Given the description of an element on the screen output the (x, y) to click on. 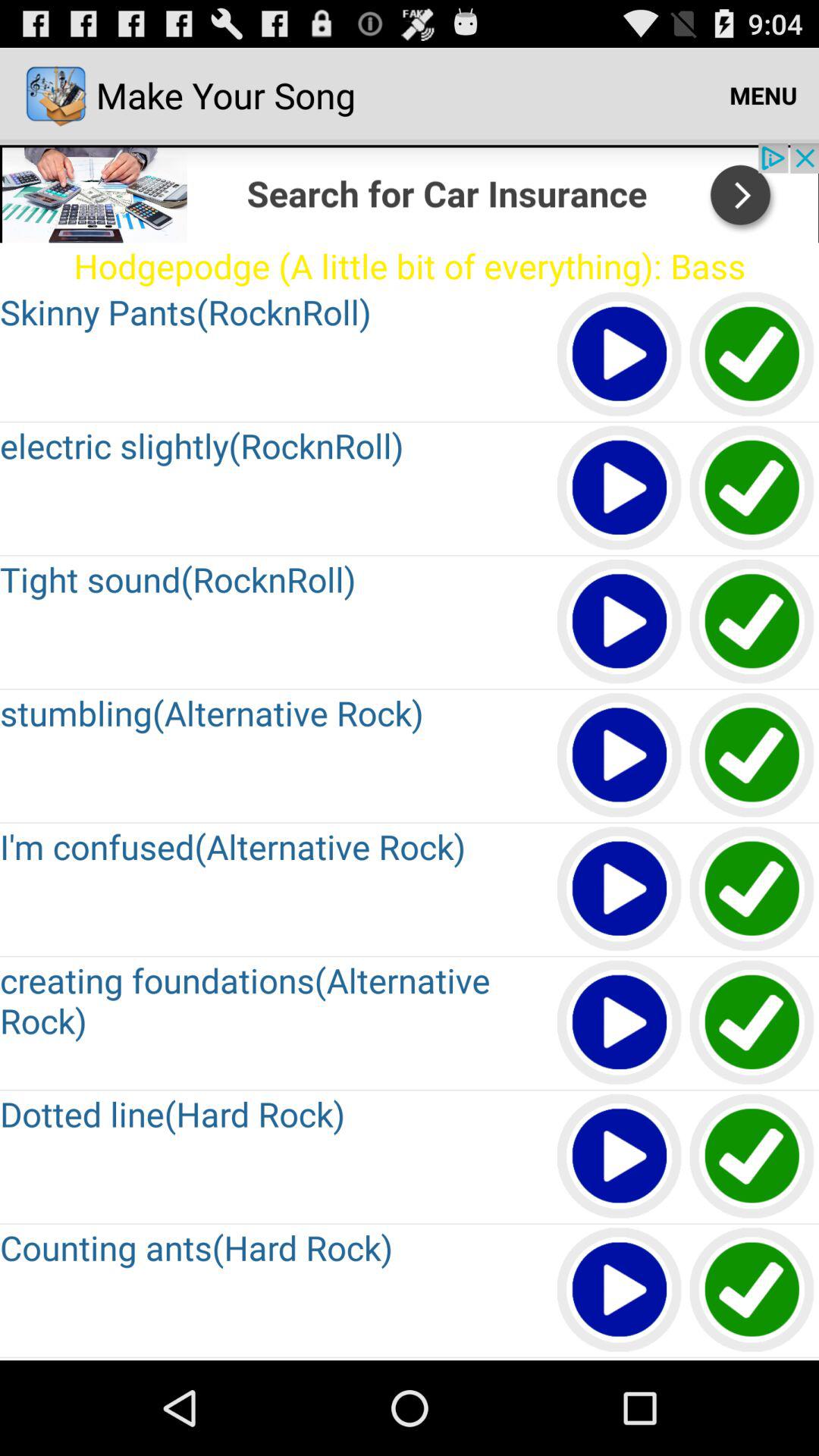
play button (619, 755)
